Given the description of an element on the screen output the (x, y) to click on. 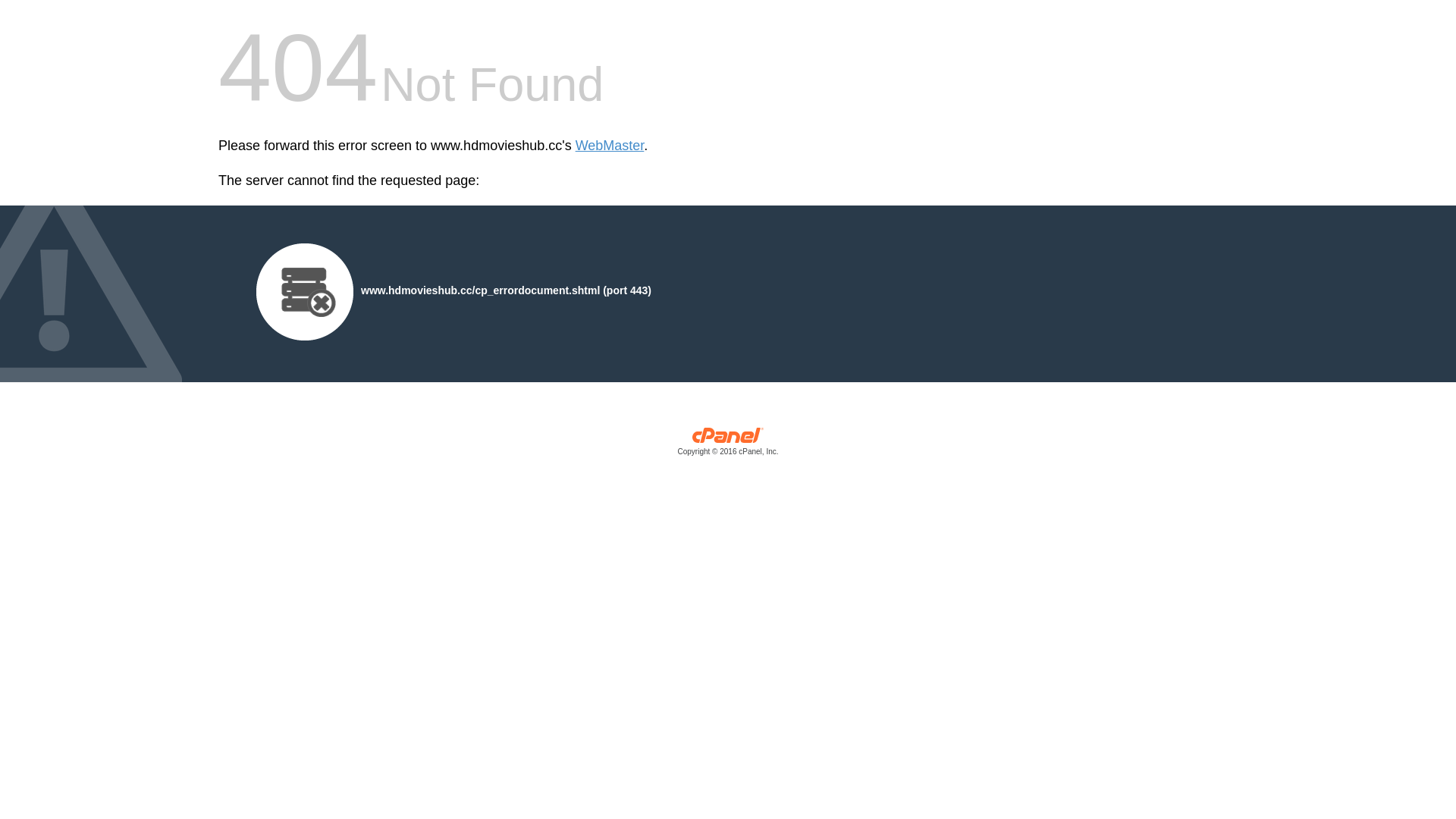
WebMaster Element type: text (609, 145)
